Given the description of an element on the screen output the (x, y) to click on. 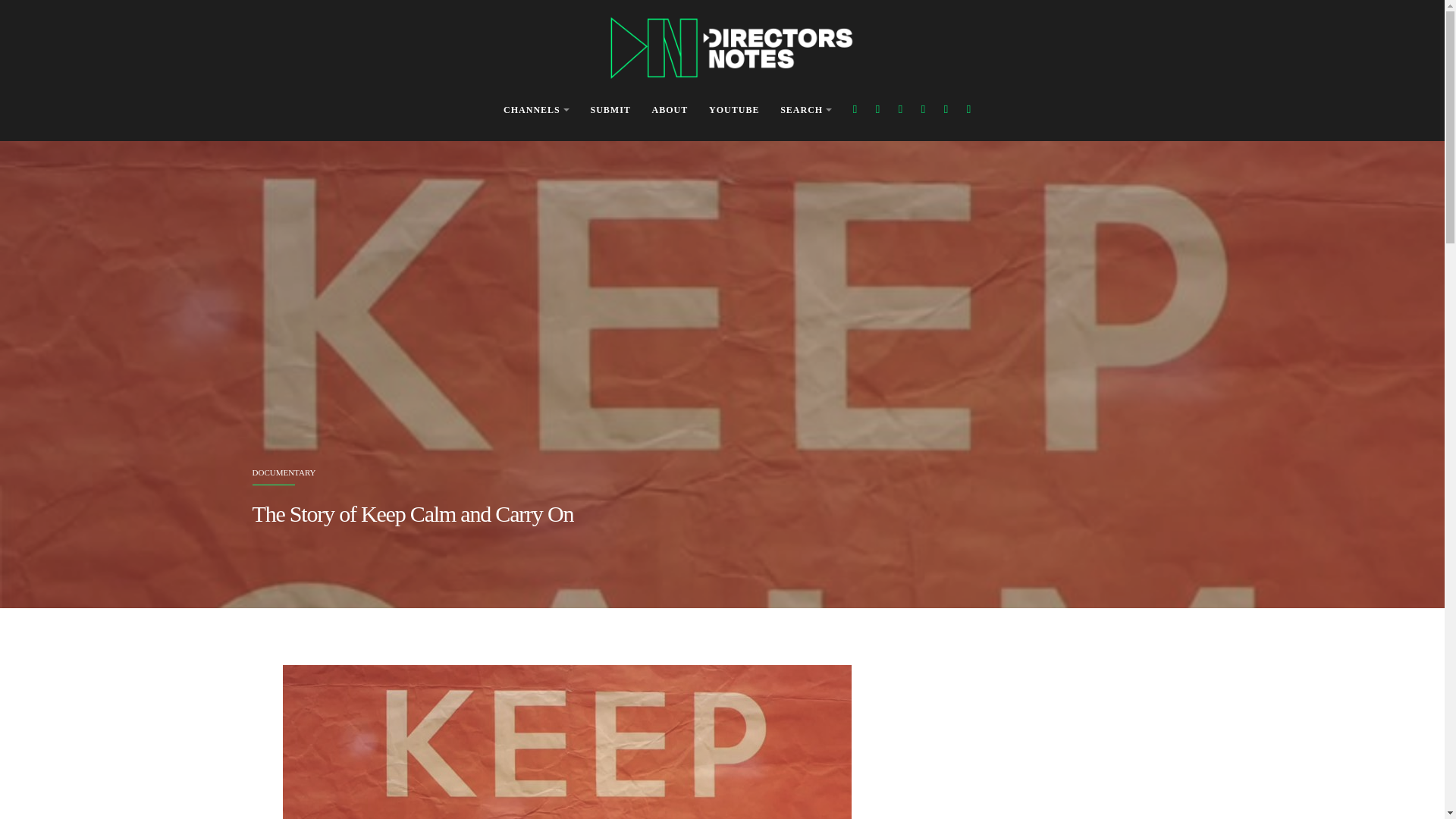
Facebook (855, 110)
ABOUT (670, 110)
You Tube (923, 110)
SEARCH (805, 110)
Vimeo (945, 110)
kcaco-1.jpg (566, 742)
SUBMIT (610, 110)
DOCUMENTARY (283, 471)
Twitter (877, 110)
YOUTUBE (733, 110)
The Story of Keep Calm and Carry On (412, 513)
Instagram (900, 110)
CHANNELS (536, 110)
LinkedIn (968, 110)
